Given the description of an element on the screen output the (x, y) to click on. 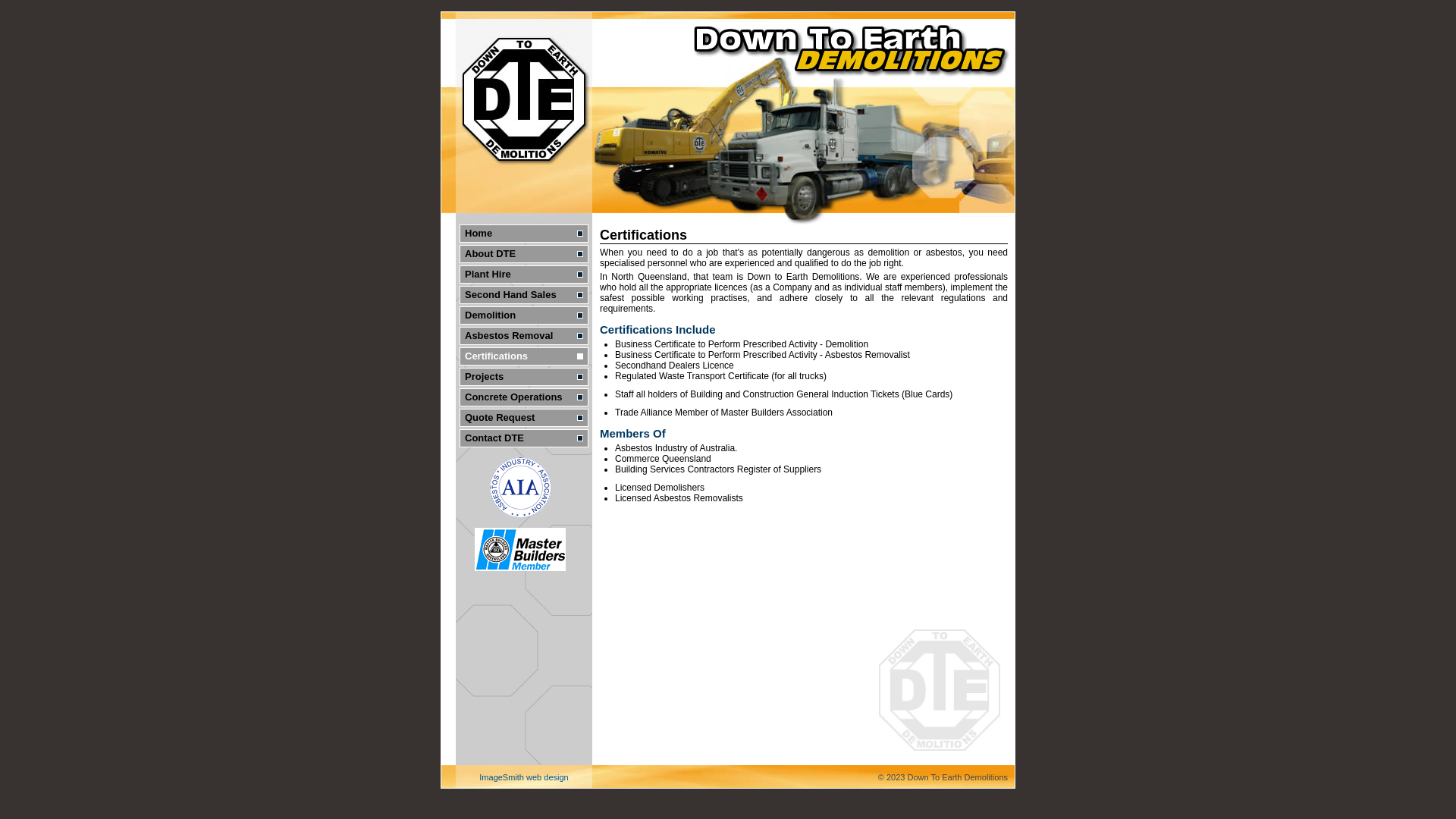
Contact DTE Element type: text (523, 438)
Certifications Element type: text (523, 356)
Down To Earth Demolitions Element type: hover (727, 117)
Plant Hire Element type: text (523, 274)
Home Element type: text (523, 233)
About DTE Element type: text (523, 253)
Concrete Operations Element type: text (523, 397)
Demolition Element type: text (523, 315)
Asbestos Removal Element type: text (523, 335)
Quote Request Element type: text (523, 417)
Second Hand Sales Element type: text (523, 294)
Projects Element type: text (523, 376)
ImageSmith web design Element type: text (523, 776)
